Given the description of an element on the screen output the (x, y) to click on. 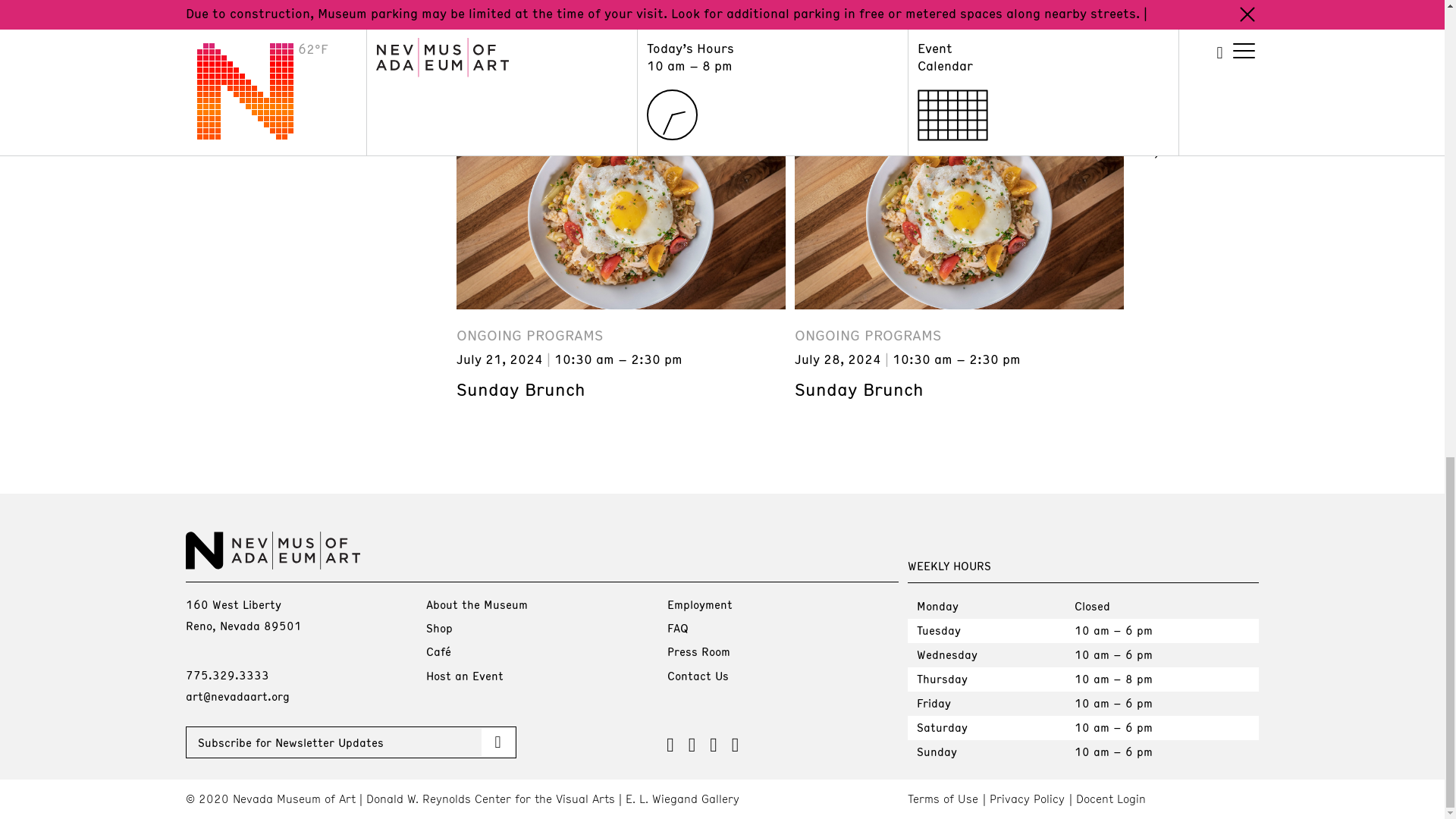
Employment (699, 603)
Host an Event (464, 675)
About the Museum (476, 603)
VIEW ALL (1195, 142)
Shop (439, 627)
775.329.3333 (225, 674)
